Given the description of an element on the screen output the (x, y) to click on. 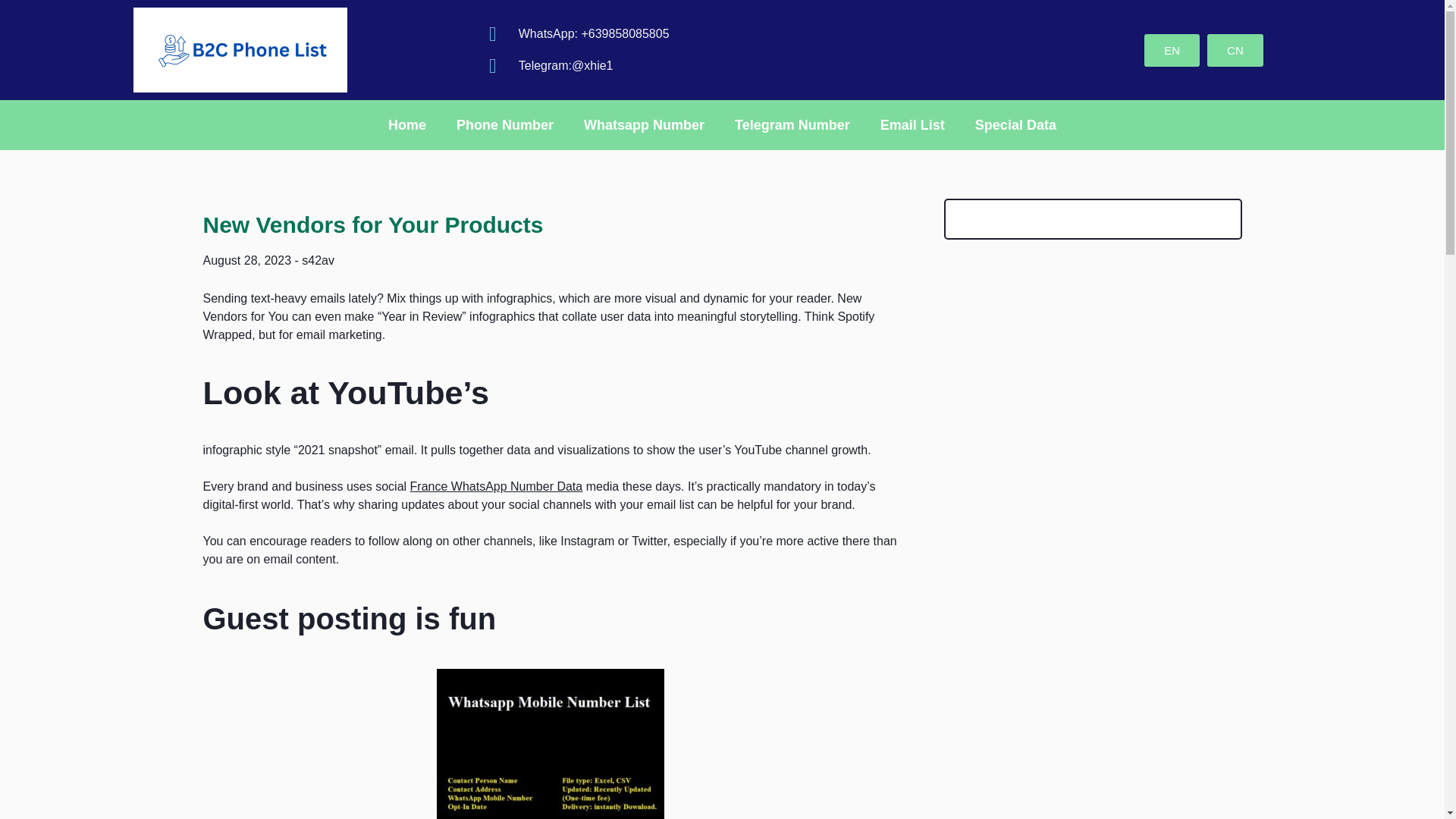
s42av (317, 259)
France WhatsApp Number Data (496, 486)
EN (1171, 49)
Phone Number (505, 124)
Whatsapp Number (644, 124)
August 28, 2023 (247, 259)
Home (406, 124)
CN (1235, 49)
Email List (911, 124)
Telegram Number (791, 124)
Special Data (1015, 124)
